Given the description of an element on the screen output the (x, y) to click on. 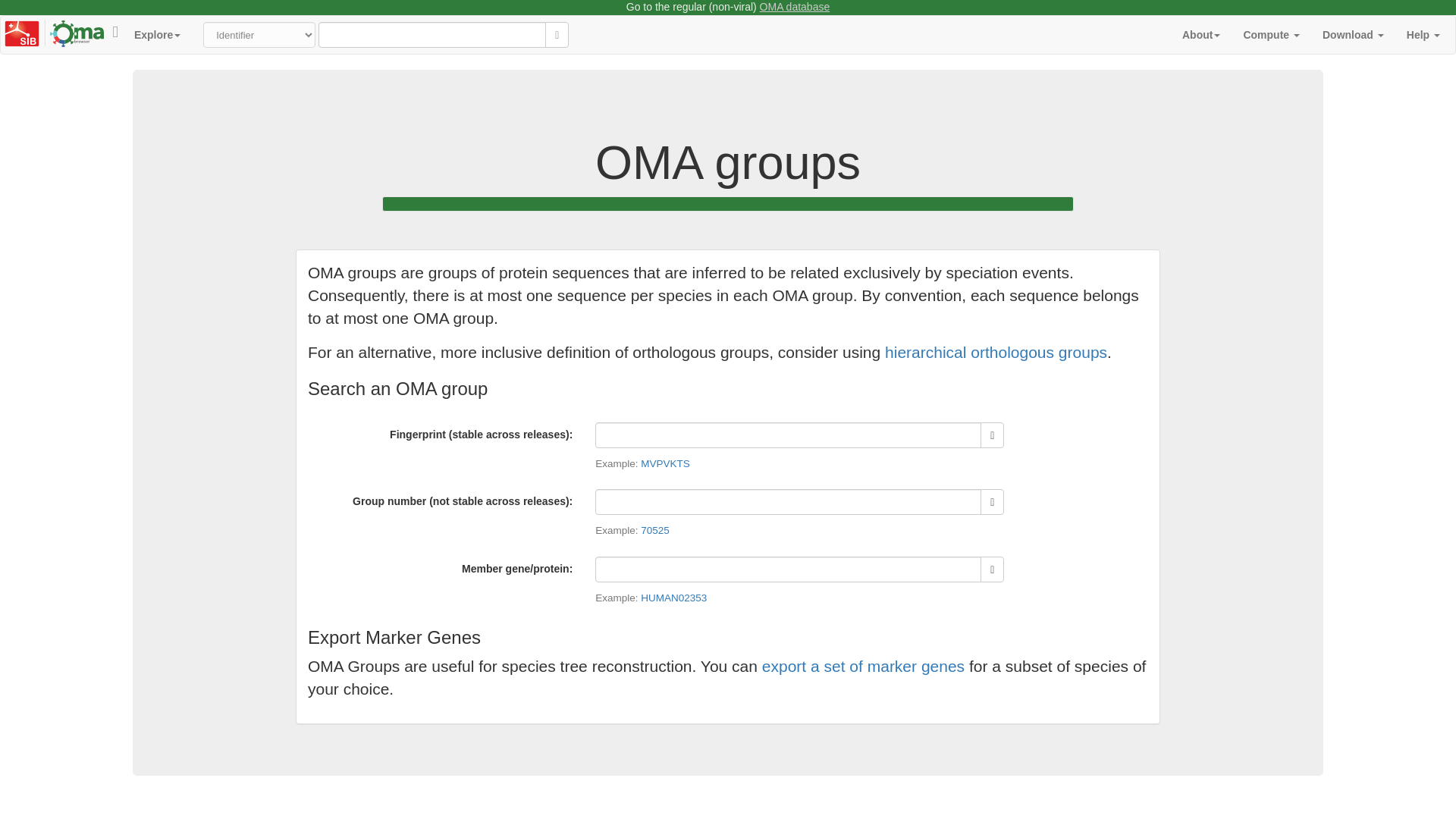
Compute (1271, 34)
Explore (157, 34)
Help (1422, 34)
OMA database (794, 6)
About (1200, 34)
hierarchical orthologous groups (995, 352)
Download (1352, 34)
